Given the description of an element on the screen output the (x, y) to click on. 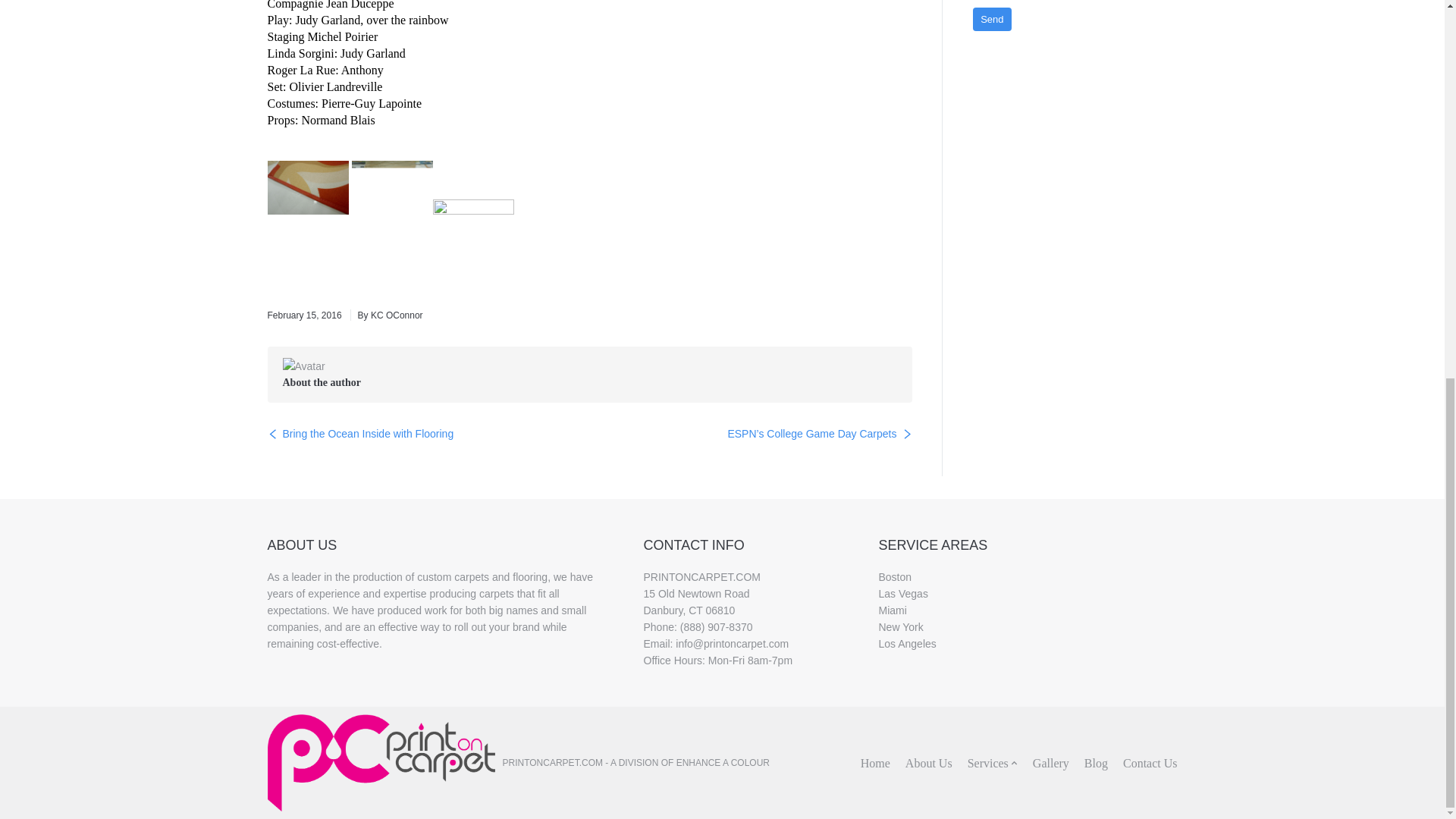
Send (991, 19)
About Us (928, 762)
Las Vegas (902, 593)
Bring the Ocean Inside with Flooring (359, 433)
New York (900, 626)
Miami (891, 610)
3:08 pm (303, 315)
View all posts by KC OConnor (386, 315)
Services (988, 762)
Send (991, 19)
